Given the description of an element on the screen output the (x, y) to click on. 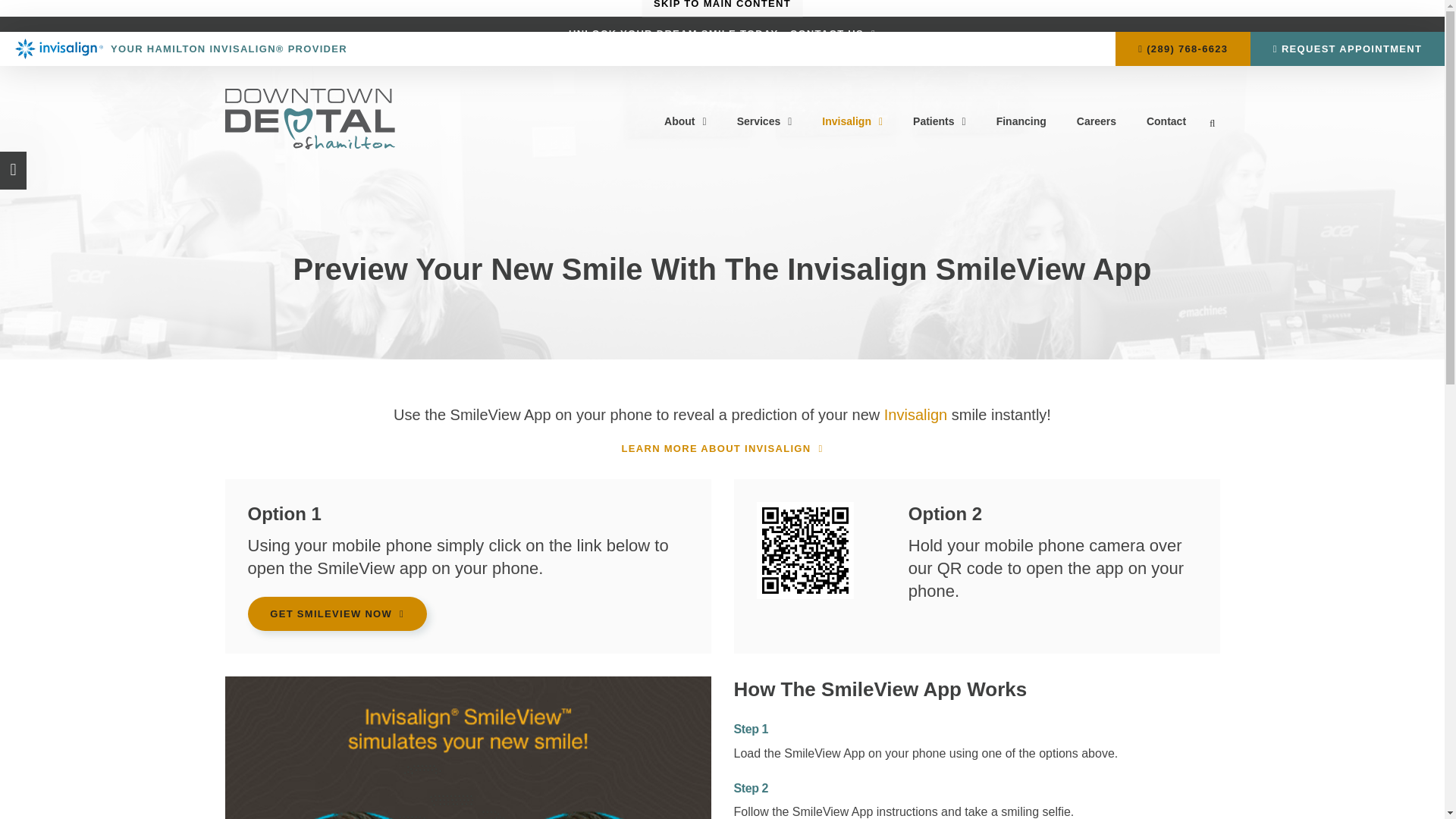
SKIP TO MAIN CONTENT (722, 8)
